Given the description of an element on the screen output the (x, y) to click on. 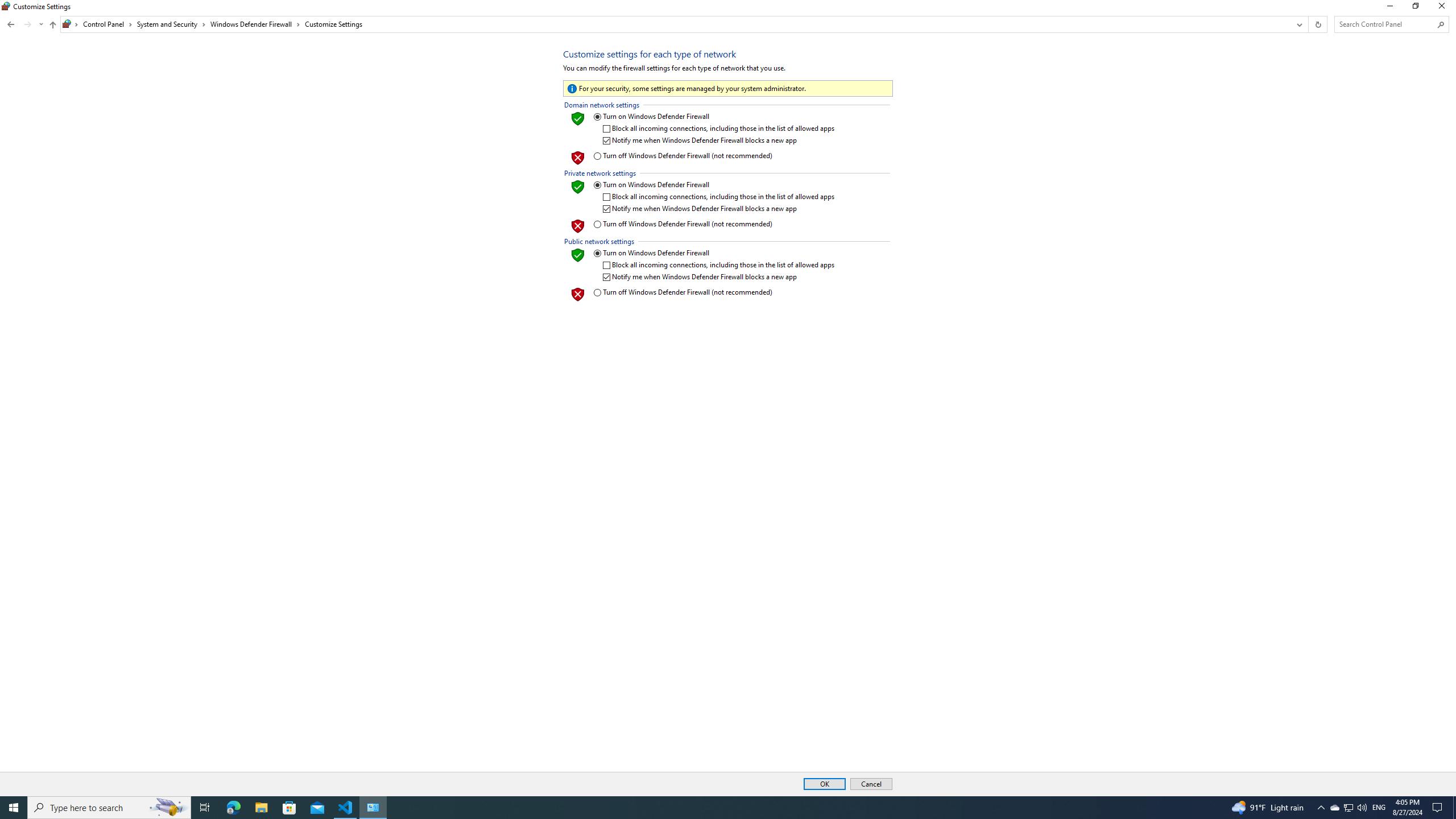
Turn on Windows Defender Firewall (714, 252)
Previous Locations (1298, 23)
System (6, 6)
Control Panel (107, 23)
Turn off Windows Defender Firewall (not recommended) (714, 292)
Search (1441, 24)
Cancel (871, 783)
All locations (70, 23)
Recent locations (40, 23)
System (6, 6)
Up to "Windows Defender Firewall" (Alt + Up Arrow) (52, 24)
